Given the description of an element on the screen output the (x, y) to click on. 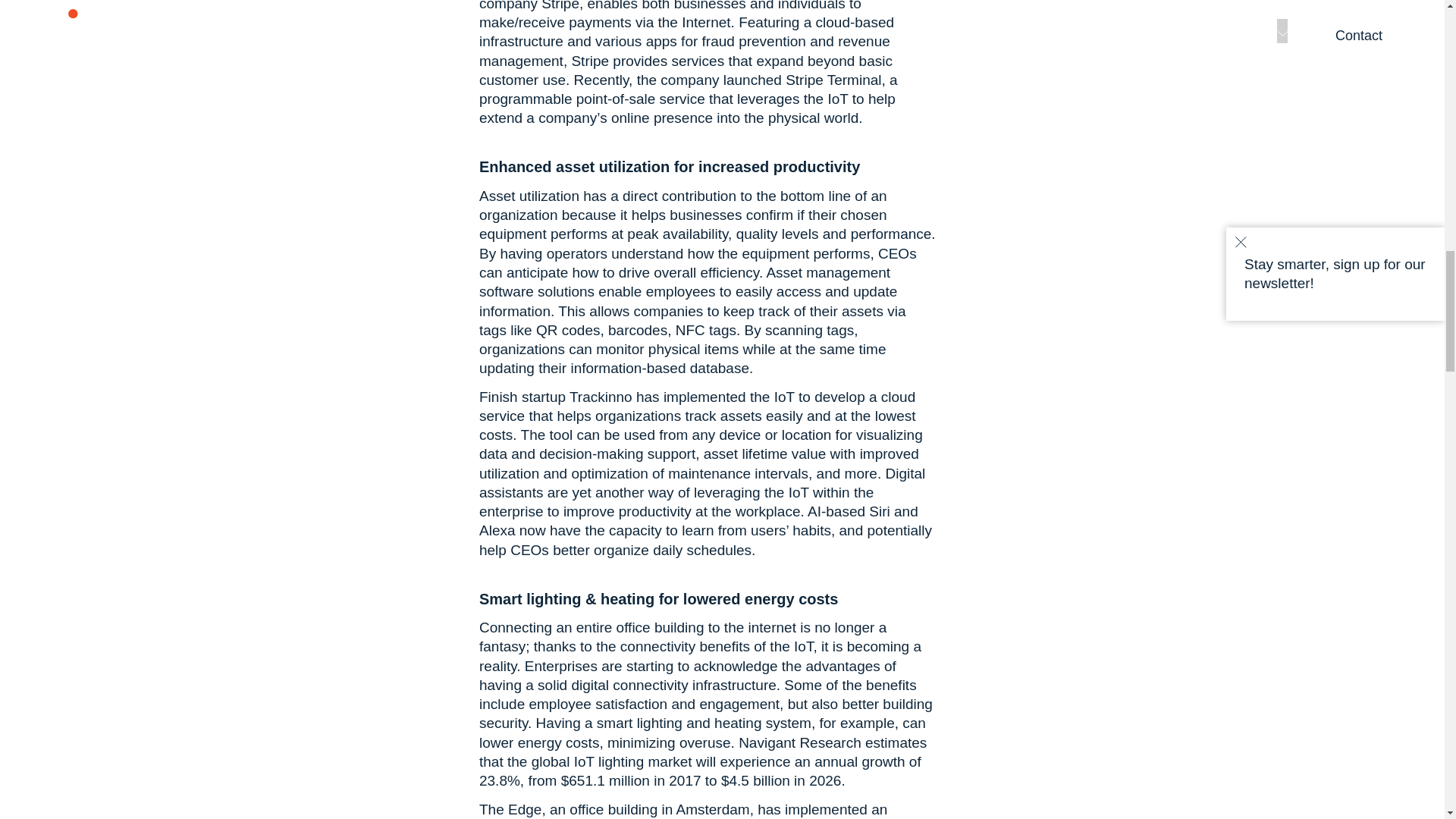
Trackinno (600, 396)
Siri and Alexa (698, 520)
Navigant Research estimates that (702, 751)
The Edge, (512, 809)
Asset utilization (529, 195)
launched Stripe Terminal (802, 79)
